Given the description of an element on the screen output the (x, y) to click on. 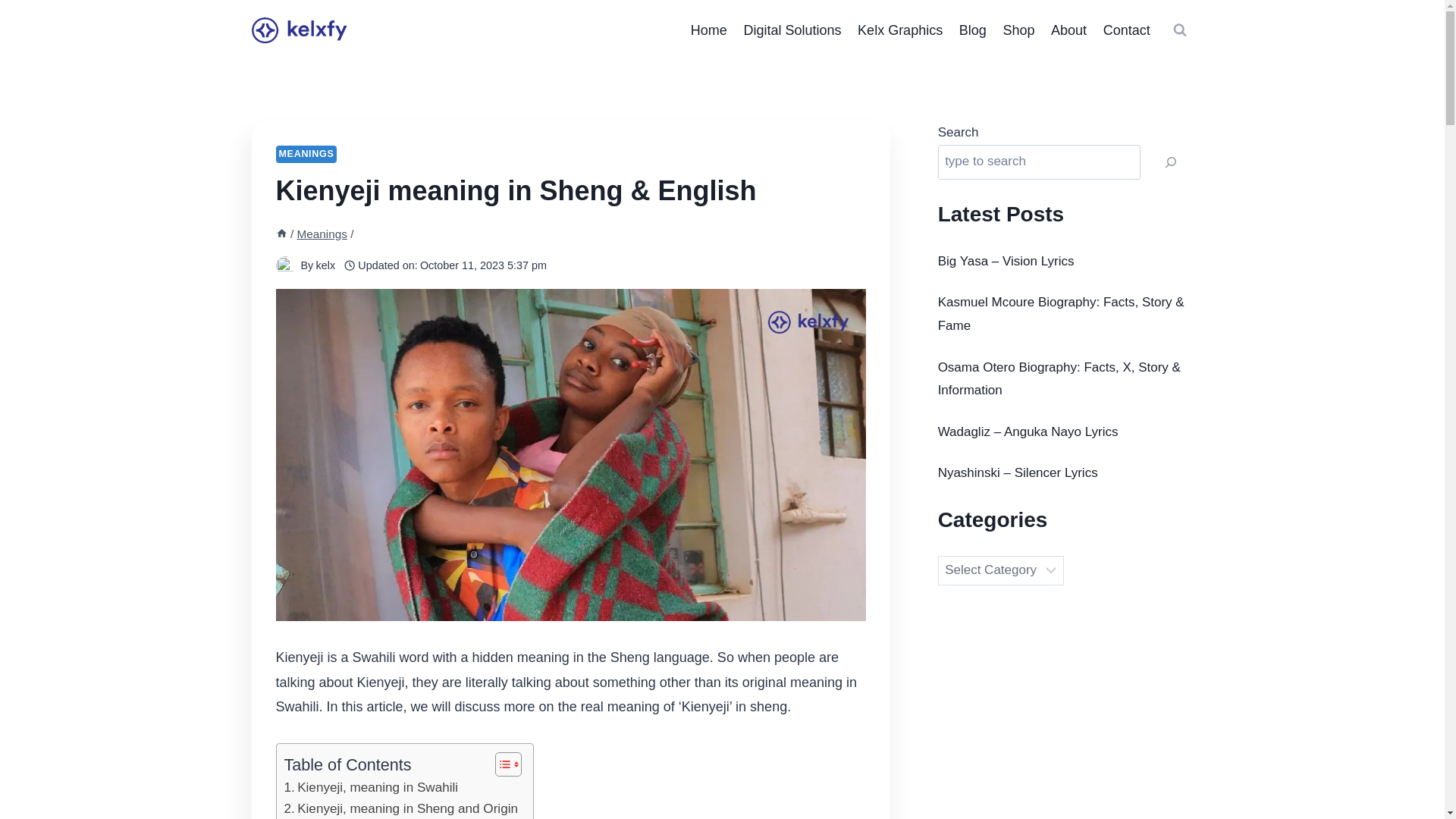
kelx (324, 265)
Kienyeji, meaning in Swahili (370, 787)
Blog (972, 29)
Contact (1126, 29)
MEANINGS (306, 153)
Kienyeji, meaning in Sheng and Origin (399, 808)
Kelx Graphics (899, 29)
Digital Solutions (792, 29)
Home (708, 29)
Meanings (322, 233)
Shop (1018, 29)
About (1068, 29)
Kienyeji, meaning in Swahili  (370, 787)
Kienyeji, meaning in Sheng and Origin (399, 808)
